Given the description of an element on the screen output the (x, y) to click on. 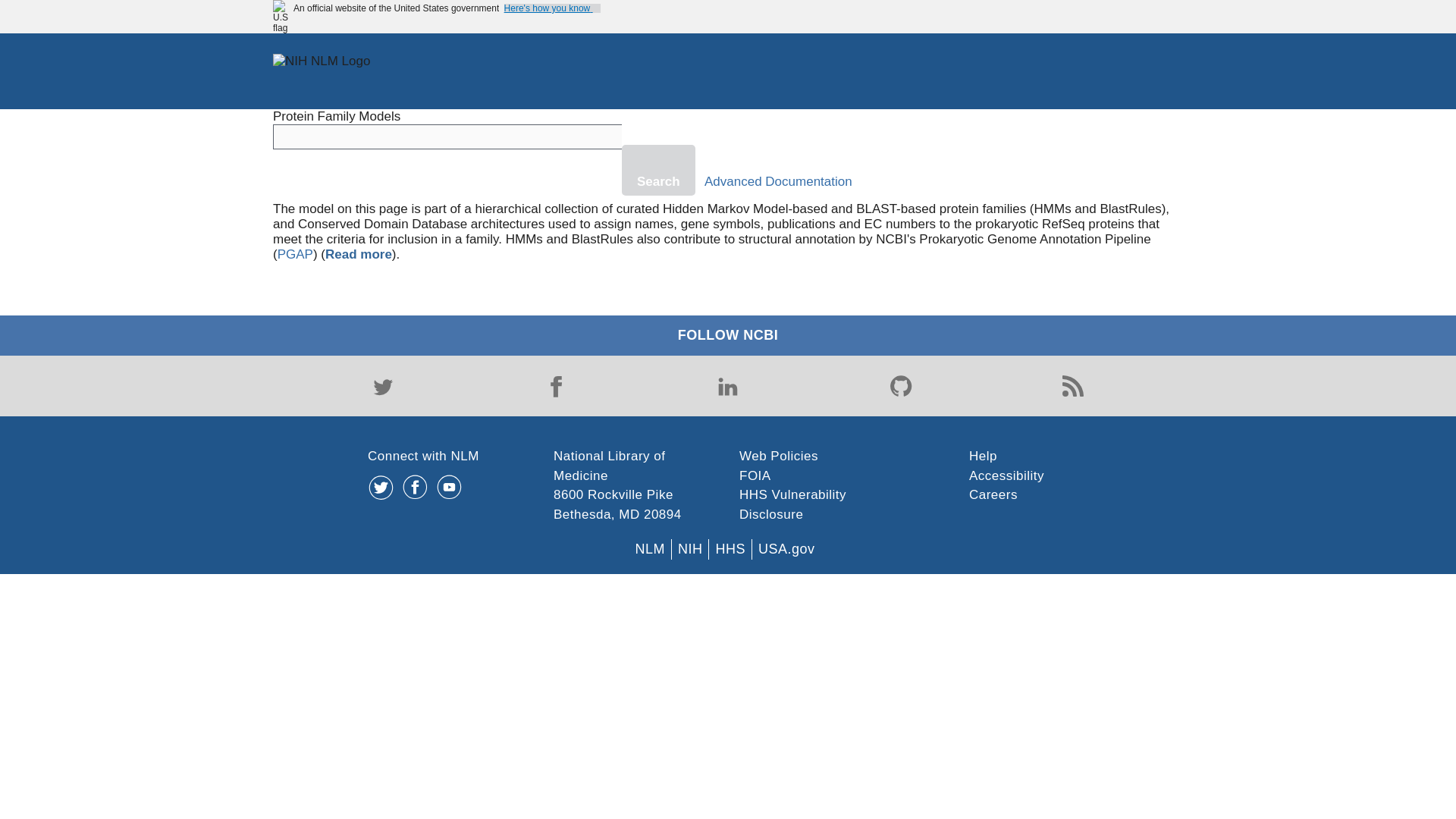
LinkedIn (727, 386)
Advanced (734, 181)
Facebook (555, 386)
Here's how you know (551, 8)
Connect with NLM (423, 455)
PGAP (295, 254)
Facebook (555, 386)
Documentation (808, 181)
Search (658, 169)
Read more (357, 254)
LinkedIn (727, 386)
